Given the description of an element on the screen output the (x, y) to click on. 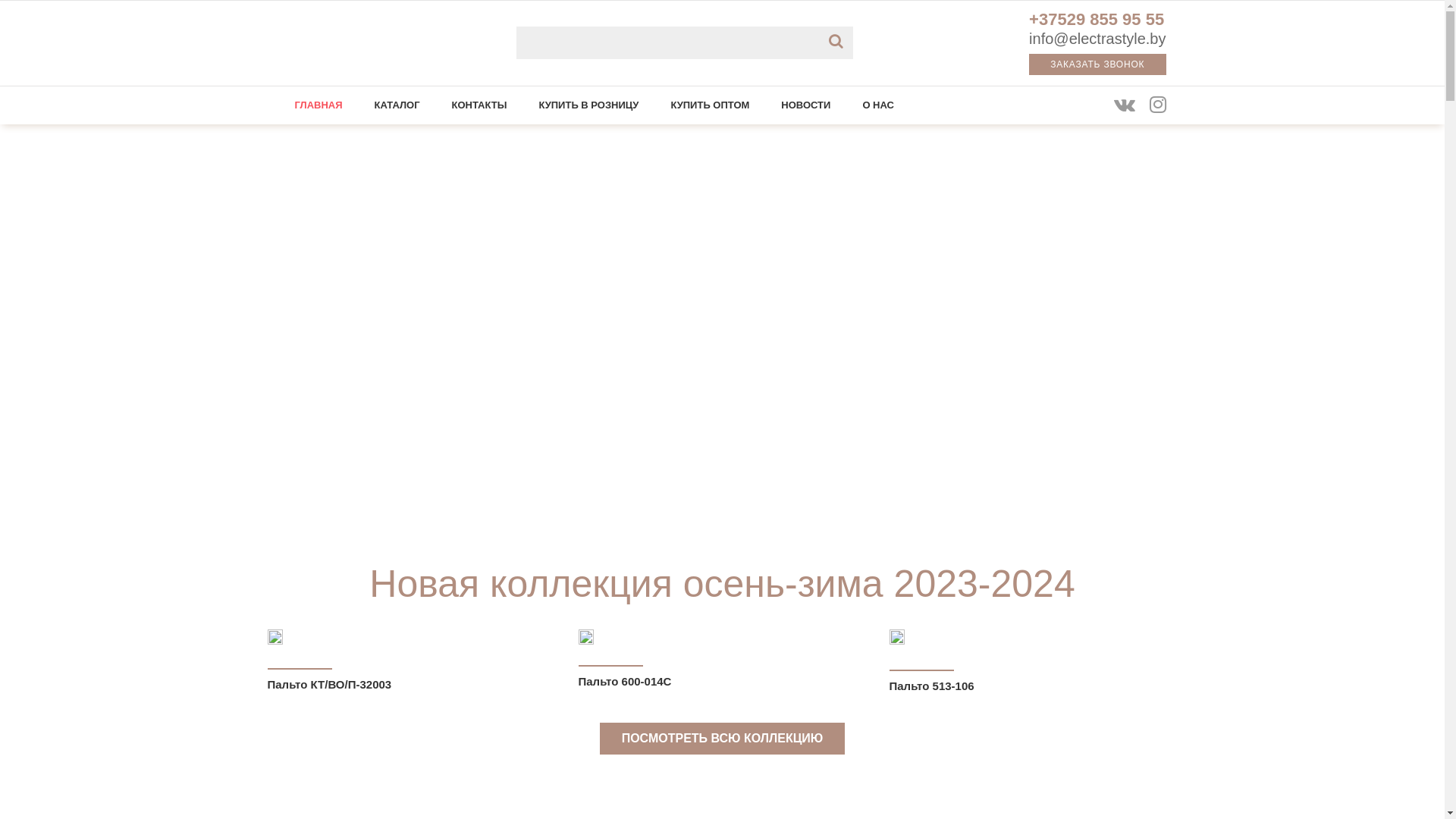
info@electrastyle.by Element type: text (1097, 38)
+37529 855 95 55 Element type: text (1096, 21)
